Given the description of an element on the screen output the (x, y) to click on. 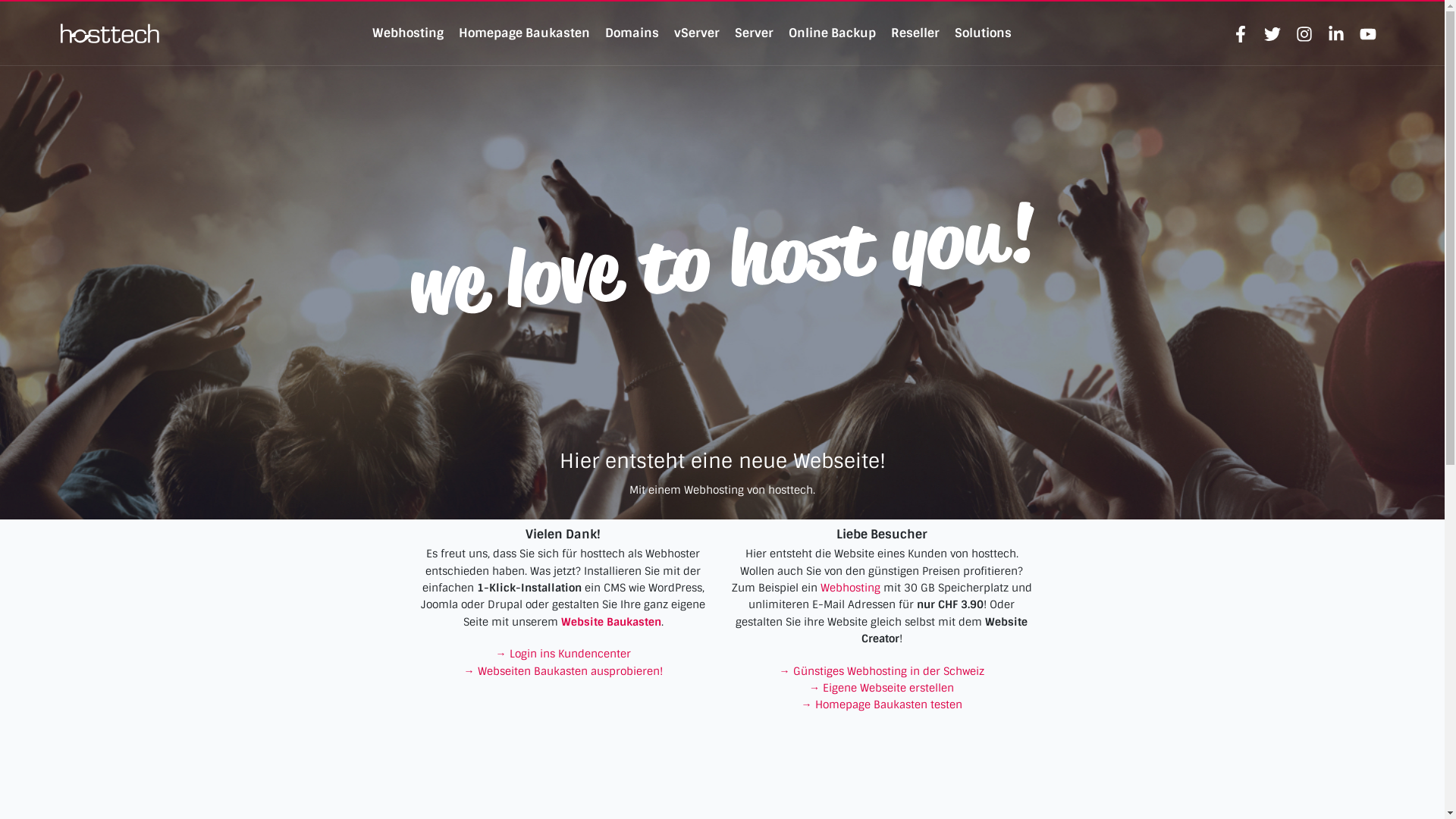
Solutions Element type: text (982, 32)
Server Element type: text (753, 32)
Webhosting Element type: text (850, 587)
Domains Element type: text (631, 32)
Webhosting Element type: text (407, 32)
Reseller Element type: text (915, 32)
Online Backup Element type: text (831, 32)
Website Baukasten Element type: text (611, 621)
vServer Element type: text (696, 32)
Homepage Baukasten Element type: text (523, 32)
